Given the description of an element on the screen output the (x, y) to click on. 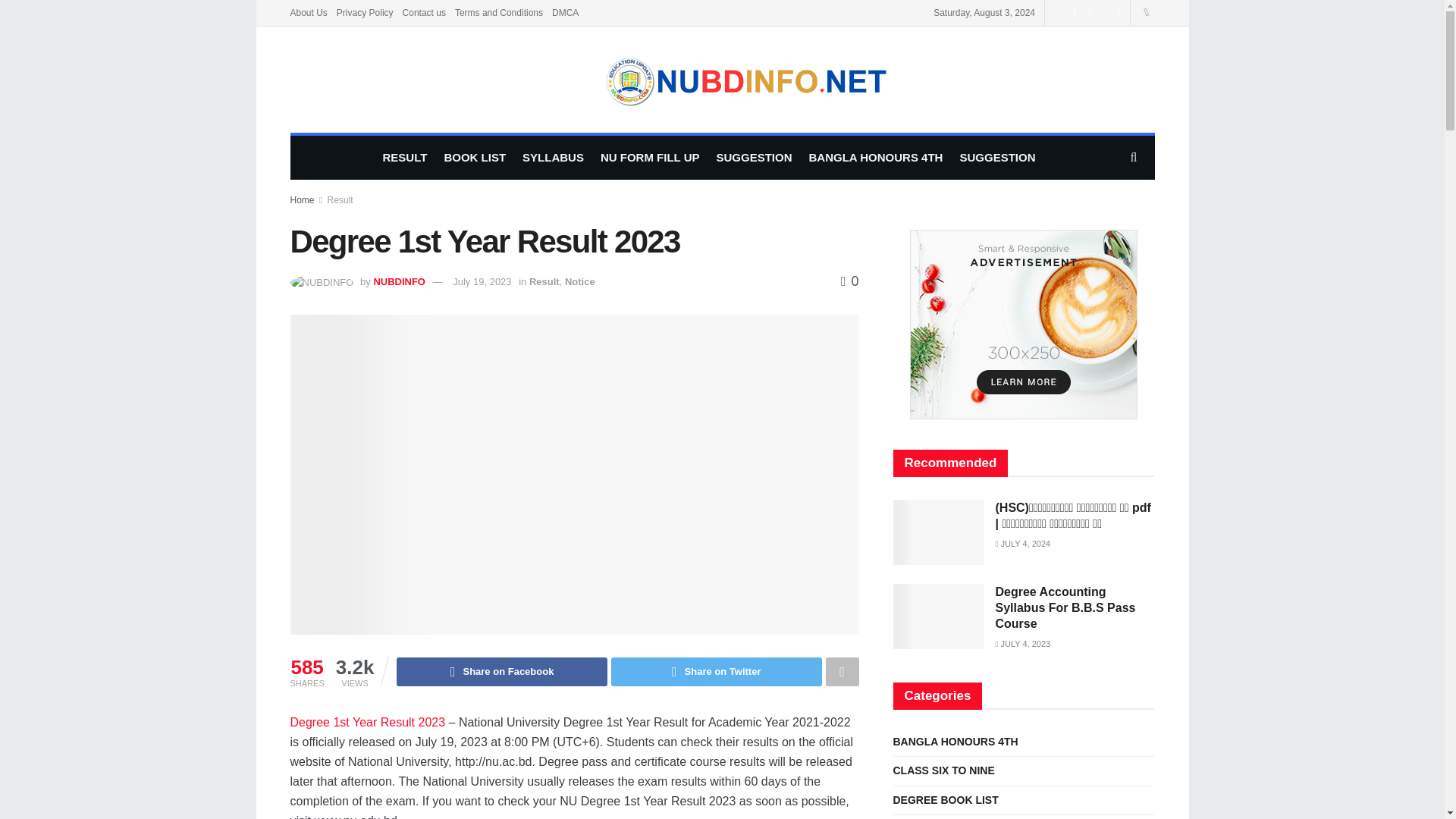
Privacy Policy (364, 12)
Terms and Conditions (498, 12)
BANGLA HONOURS 4TH (875, 157)
BOOK LIST (474, 157)
SUGGESTION (997, 157)
NU FORM FILL UP (649, 157)
Contact us (424, 12)
SYLLABUS (552, 157)
RESULT (405, 157)
SUGGESTION (754, 157)
DMCA (564, 12)
About Us (307, 12)
